Given the description of an element on the screen output the (x, y) to click on. 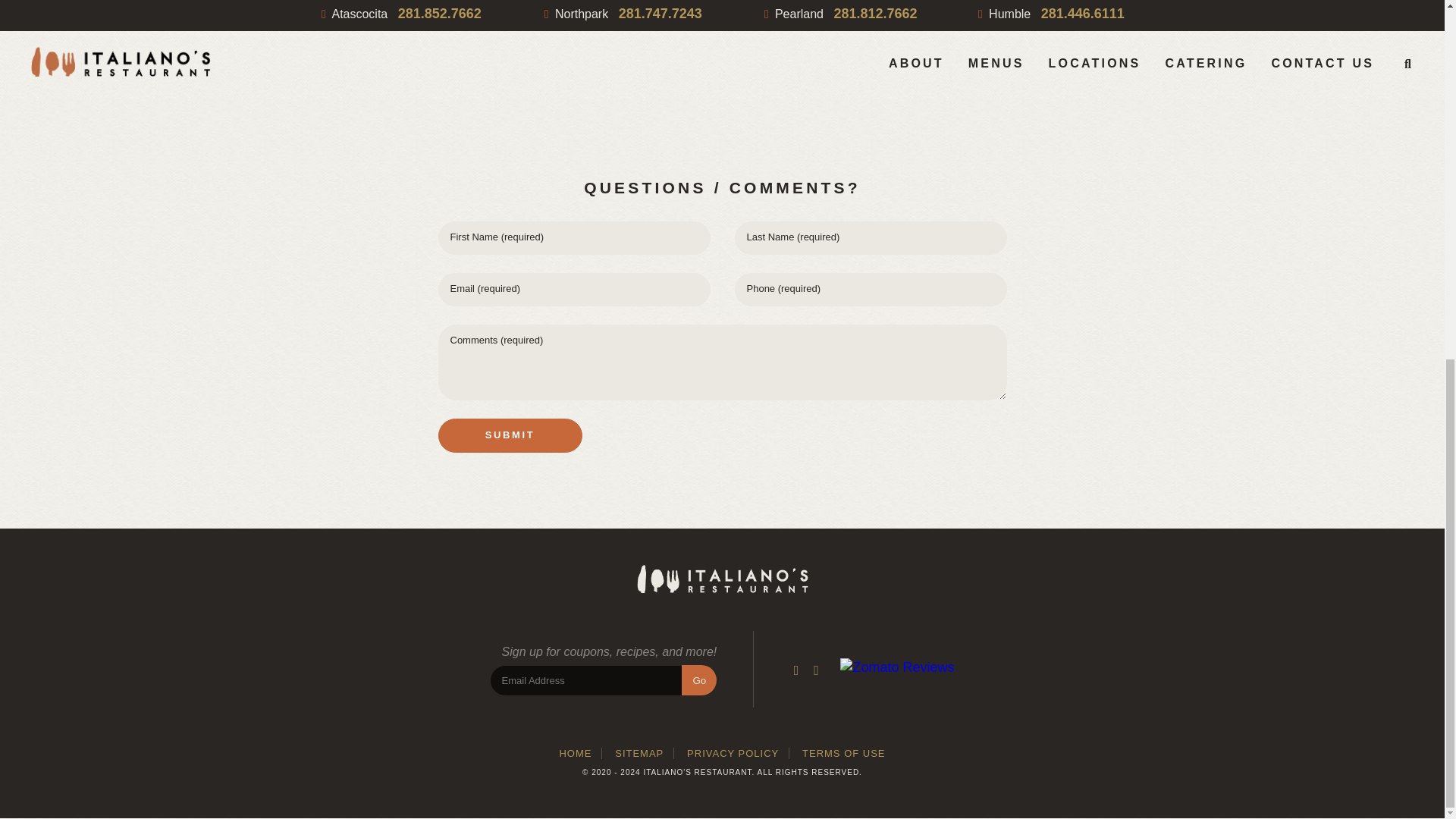
Go (698, 680)
